Given the description of an element on the screen output the (x, y) to click on. 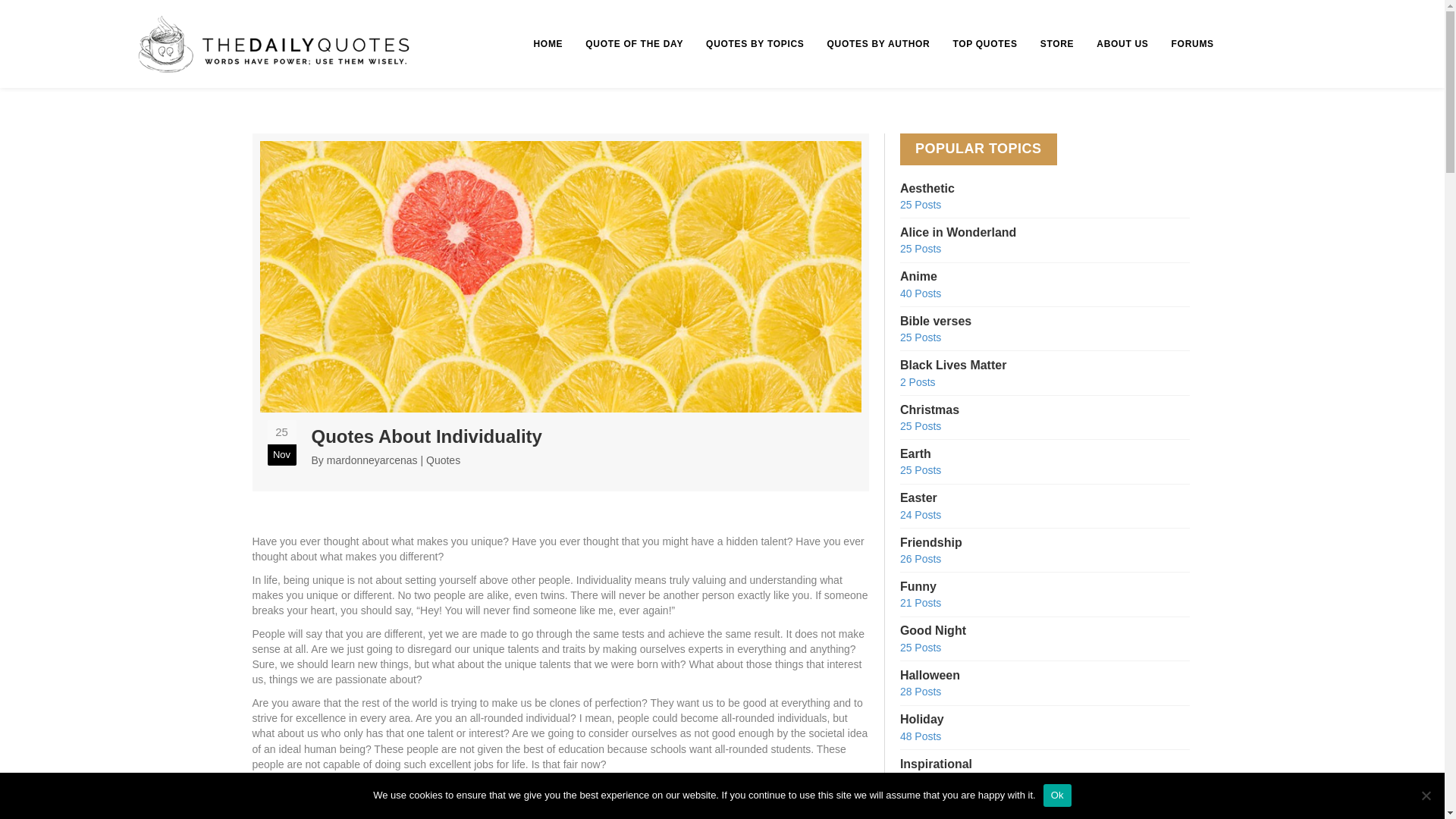
Christmas (1044, 375)
Funny (1044, 421)
Easter (1044, 597)
QUOTES BY TOPICS (1044, 508)
6 (1044, 597)
Aesthetic (1044, 420)
